Given the description of an element on the screen output the (x, y) to click on. 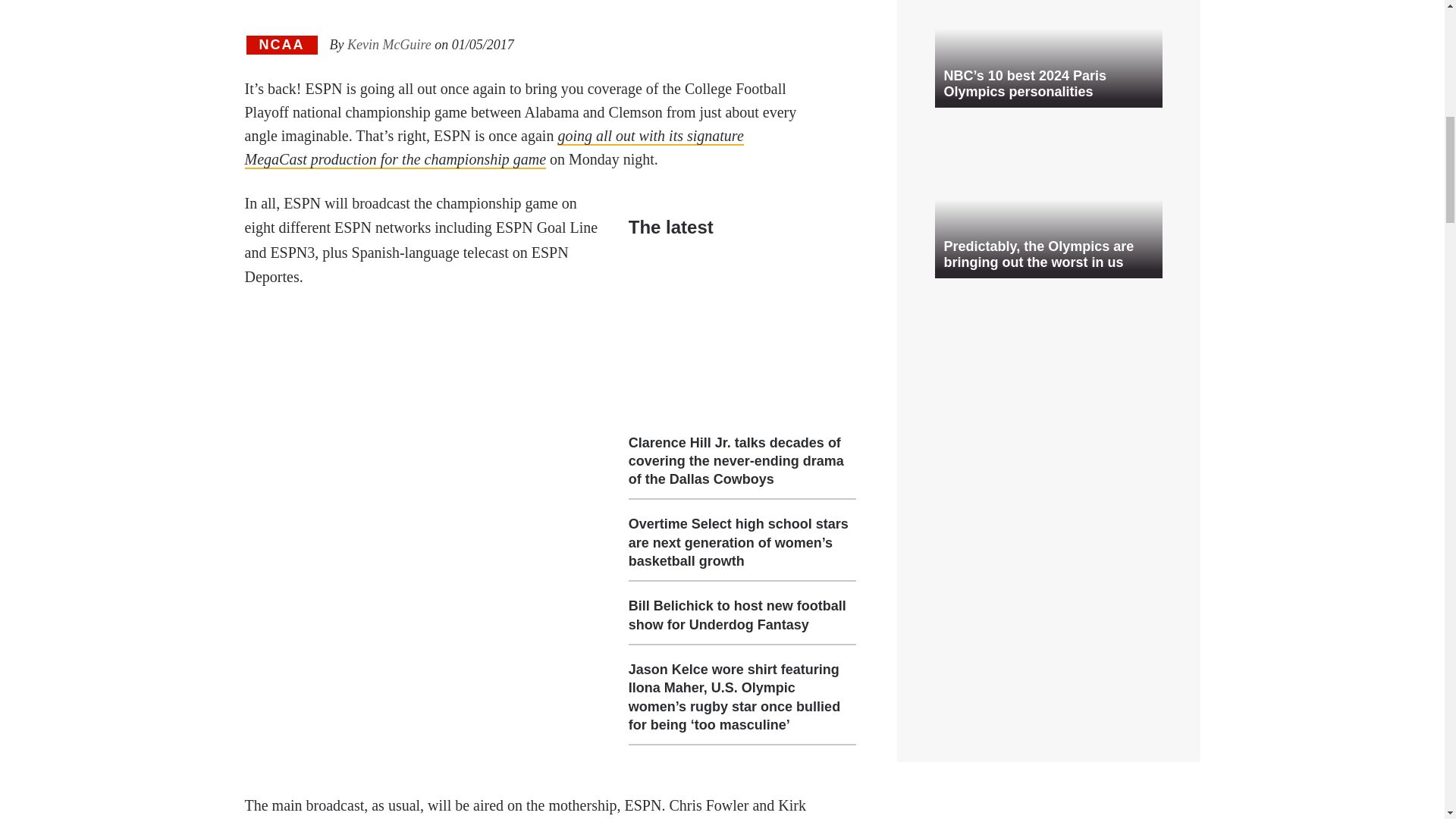
View all posts in NCAA (281, 45)
